Given the description of an element on the screen output the (x, y) to click on. 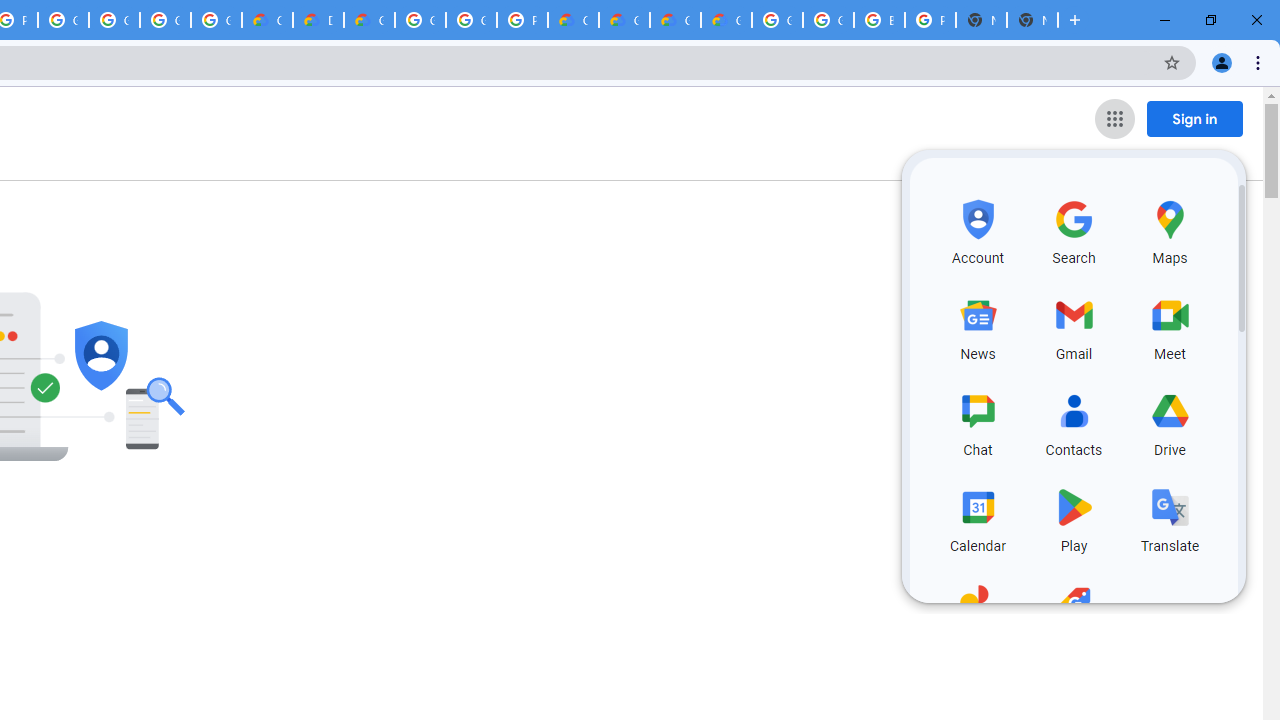
Bookmark this tab (1171, 62)
Customer Care | Google Cloud (573, 20)
Close (1256, 20)
Google Cloud Platform (420, 20)
Google Workspace - Specific Terms (215, 20)
Google Cloud Platform (827, 20)
Google Cloud Platform (470, 20)
